Given the description of an element on the screen output the (x, y) to click on. 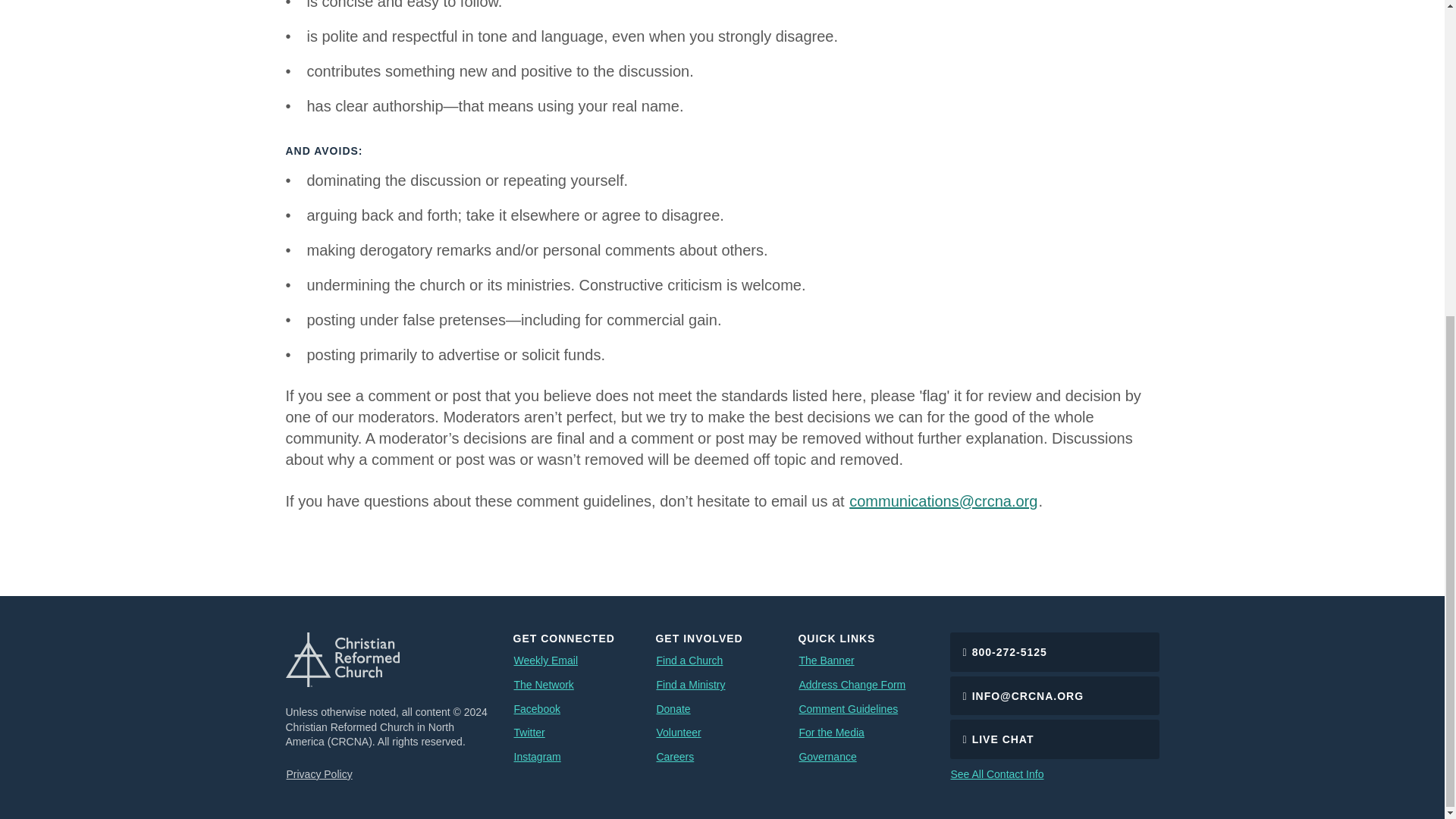
Find a Church (689, 660)
Address Change Form (851, 685)
Donate (672, 709)
800-272-5125 (1053, 651)
Find a Ministry (690, 685)
Instagram (536, 757)
The Banner (825, 660)
Careers (674, 757)
Comment Guidelines (847, 709)
For the Media (830, 733)
LIVE CHAT (1053, 739)
The Network (542, 685)
Facebook (536, 709)
See All Contact Info (996, 774)
Privacy Policy (318, 774)
